Given the description of an element on the screen output the (x, y) to click on. 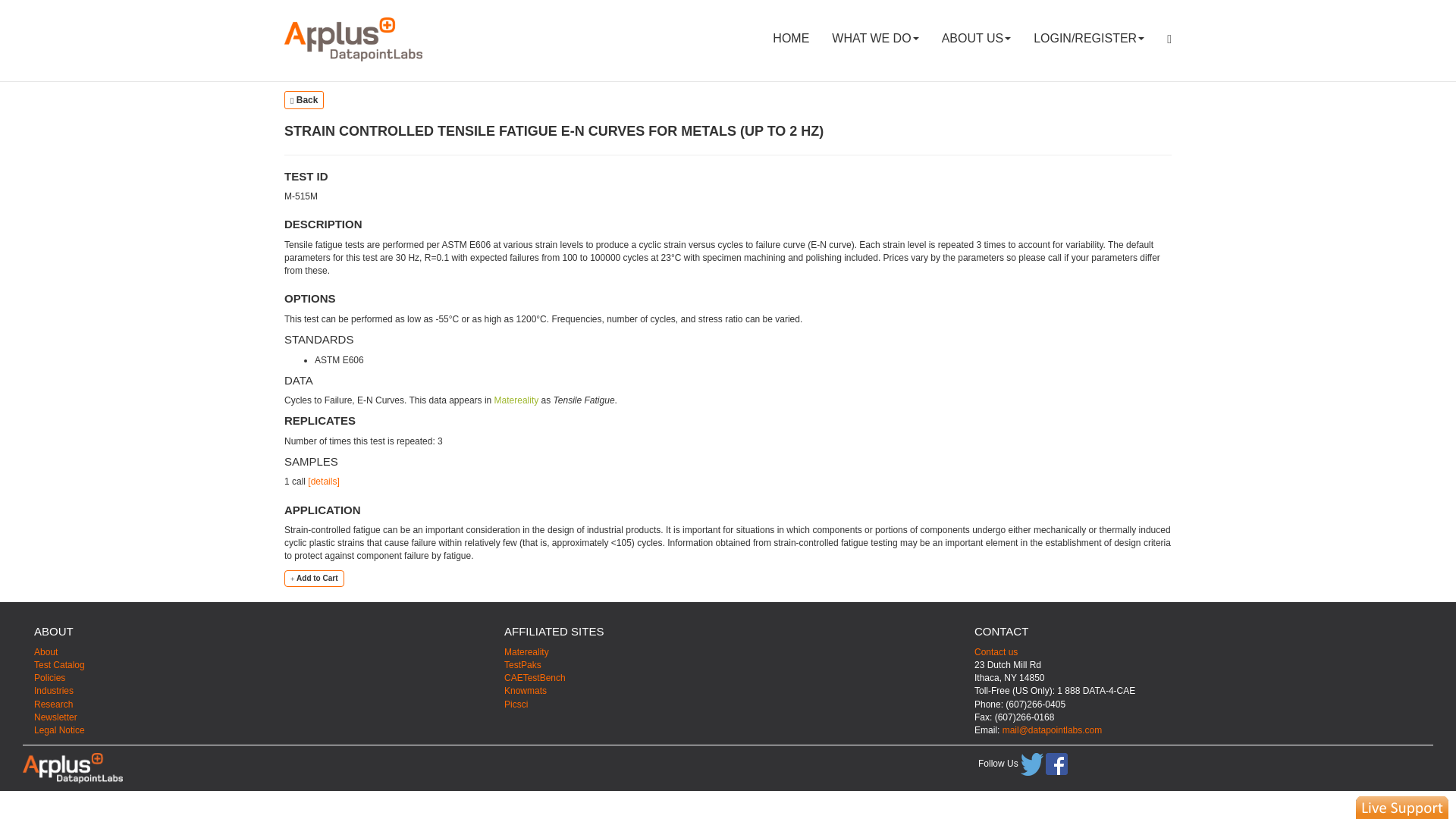
WHAT WE DO (875, 38)
Follow DatapointLabs on Twitter (1031, 763)
Like DatapointLabs on Facebook (1056, 763)
